Given the description of an element on the screen output the (x, y) to click on. 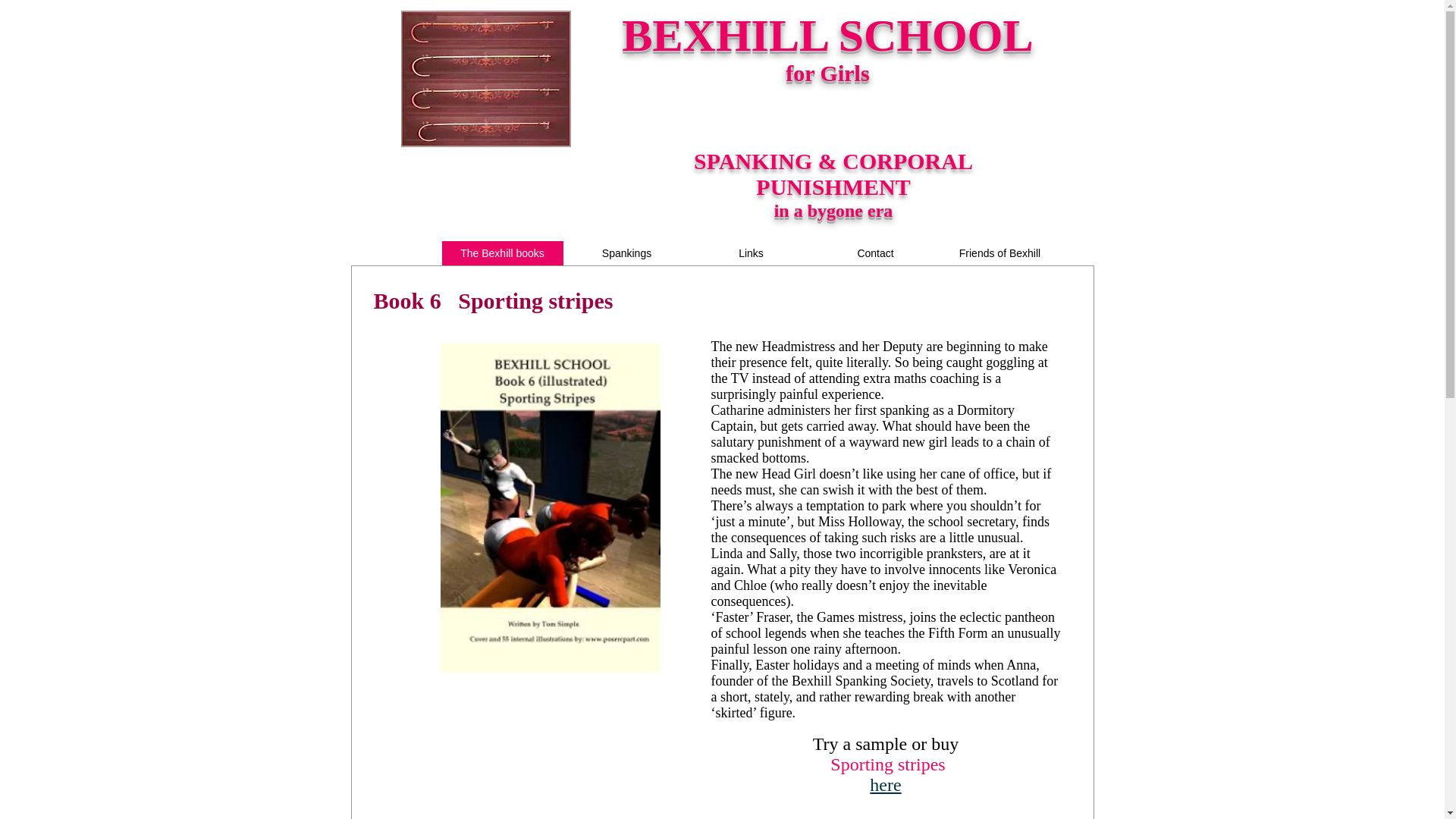
here (885, 787)
Spankings (626, 252)
The Bexhill books (501, 252)
Cane rack.jpg (485, 78)
